Given the description of an element on the screen output the (x, y) to click on. 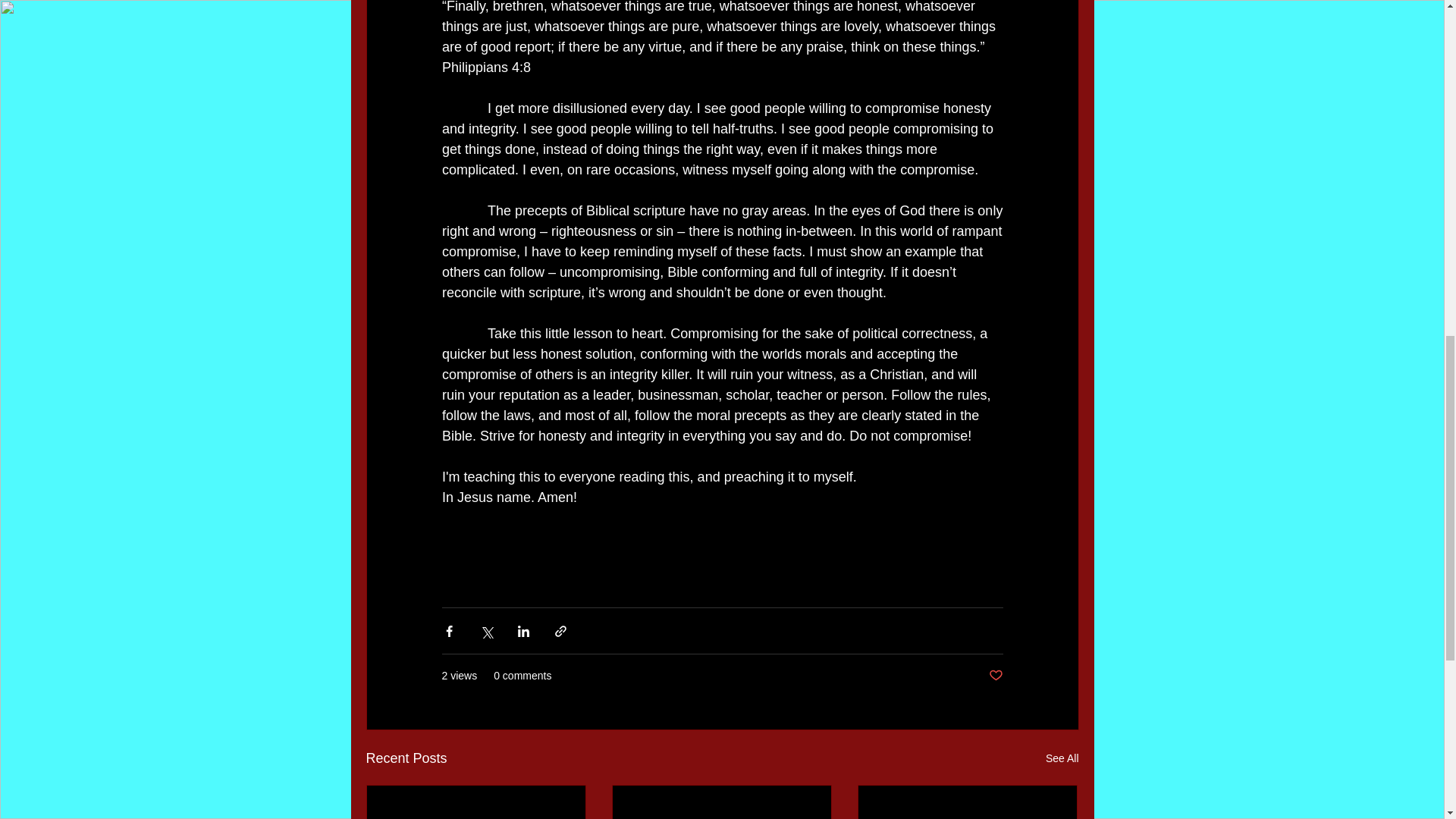
Post not marked as liked (995, 675)
See All (1061, 758)
